Given the description of an element on the screen output the (x, y) to click on. 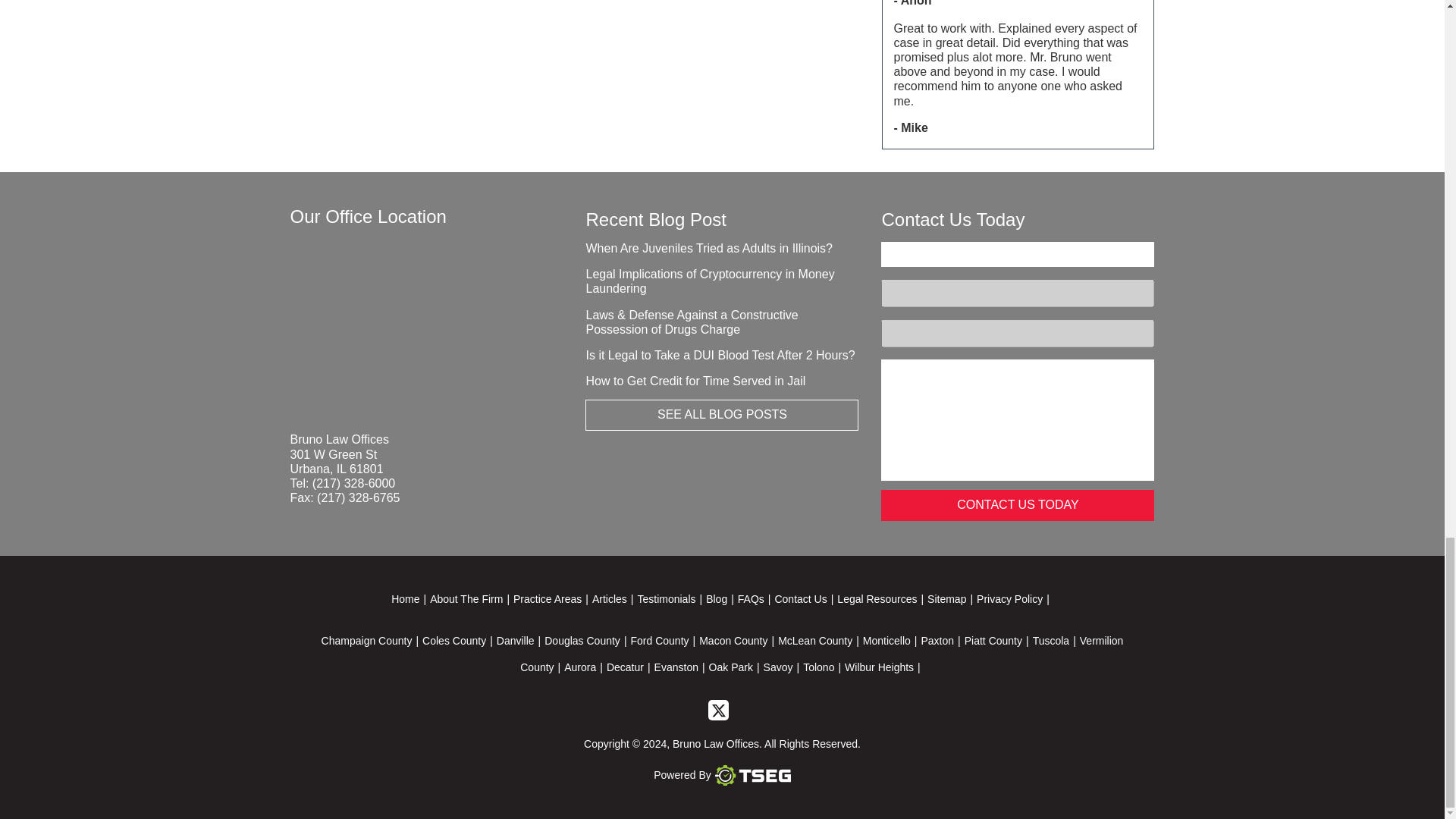
Contact Us Today (1017, 504)
When Are Juveniles Tried as Adults in Illinois? (708, 247)
